Given the description of an element on the screen output the (x, y) to click on. 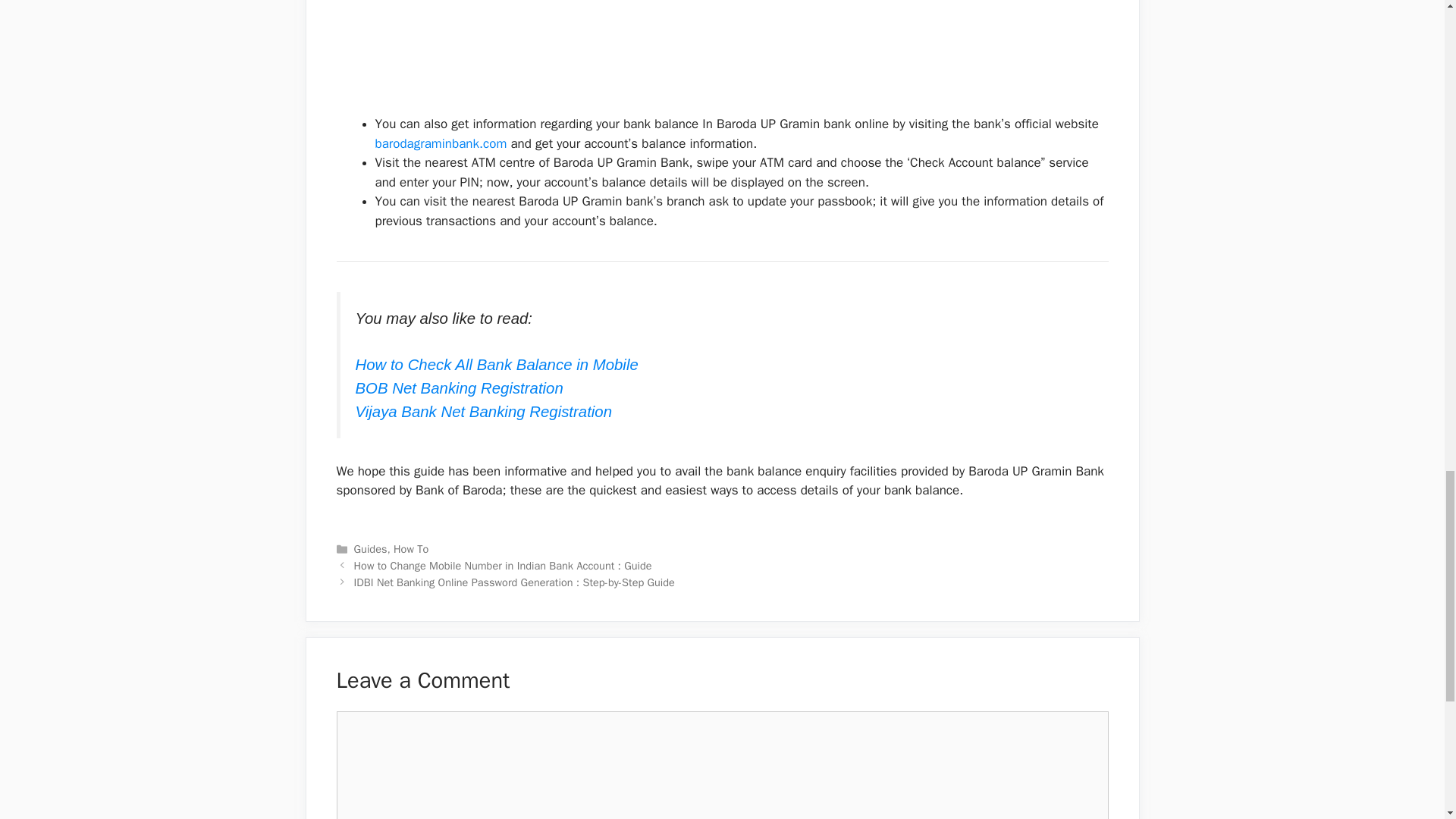
BOB Net Banking Registration (458, 388)
How To (410, 549)
barodagraminbank.com (440, 143)
Vijaya Bank Net Banking Registration (483, 411)
Guides (370, 549)
How to Check All Bank Balance in Mobile (496, 364)
How to Change Mobile Number in Indian Bank Account : Guide (502, 565)
